Given the description of an element on the screen output the (x, y) to click on. 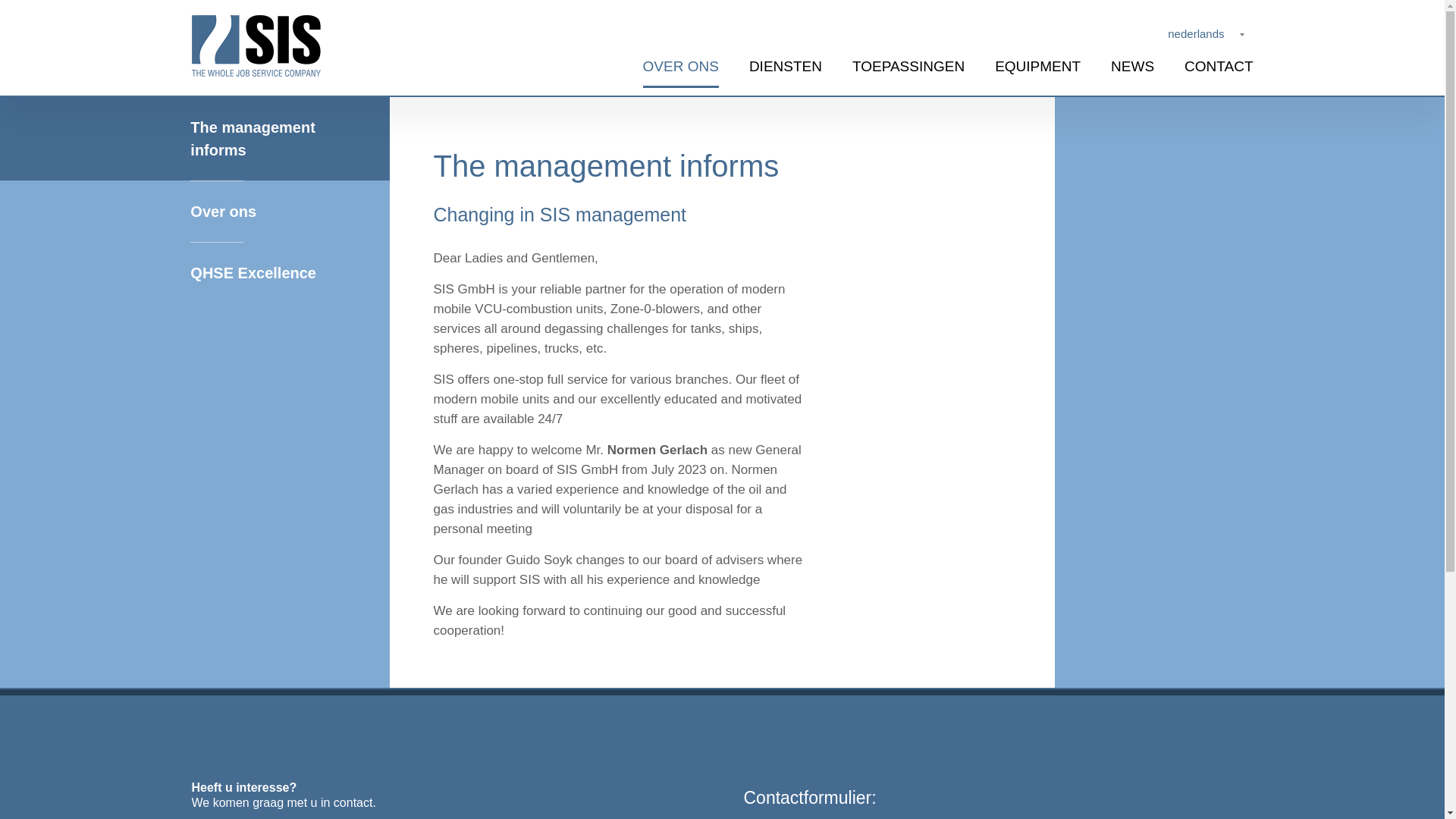
SIS GmbH (255, 45)
OVER ONS (680, 66)
The management informs (213, 138)
DIENSTEN (785, 66)
EQUIPMENT (1037, 66)
CONTACT (1210, 66)
Over ons (224, 210)
NEWS (1132, 66)
TOEPASSINGEN (908, 66)
nederlands (1196, 34)
De huidige pagina wordt al in het Nederlands weergegeven (1195, 34)
QHSE Excellence (234, 272)
